Given the description of an element on the screen output the (x, y) to click on. 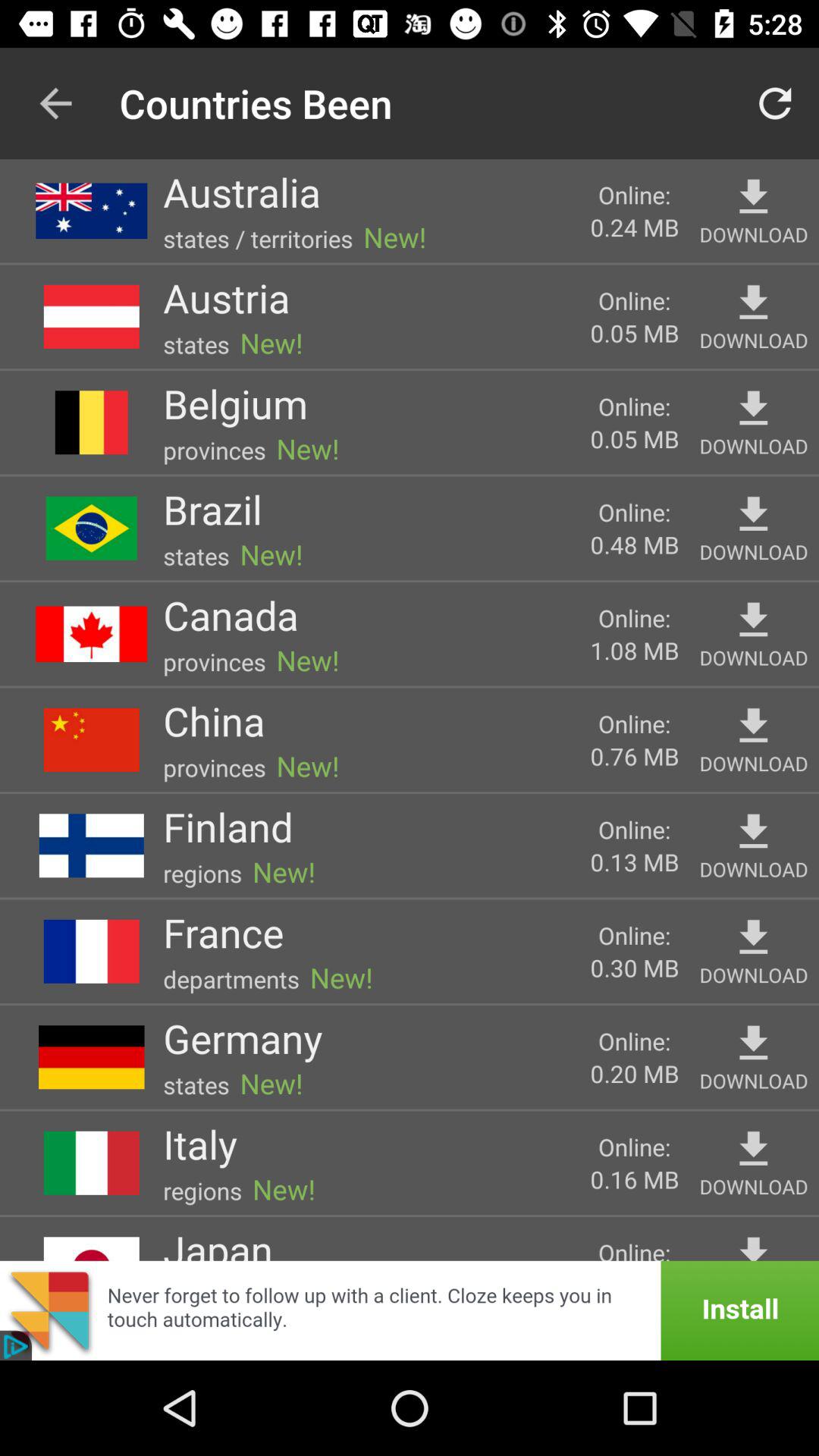
download (753, 514)
